Given the description of an element on the screen output the (x, y) to click on. 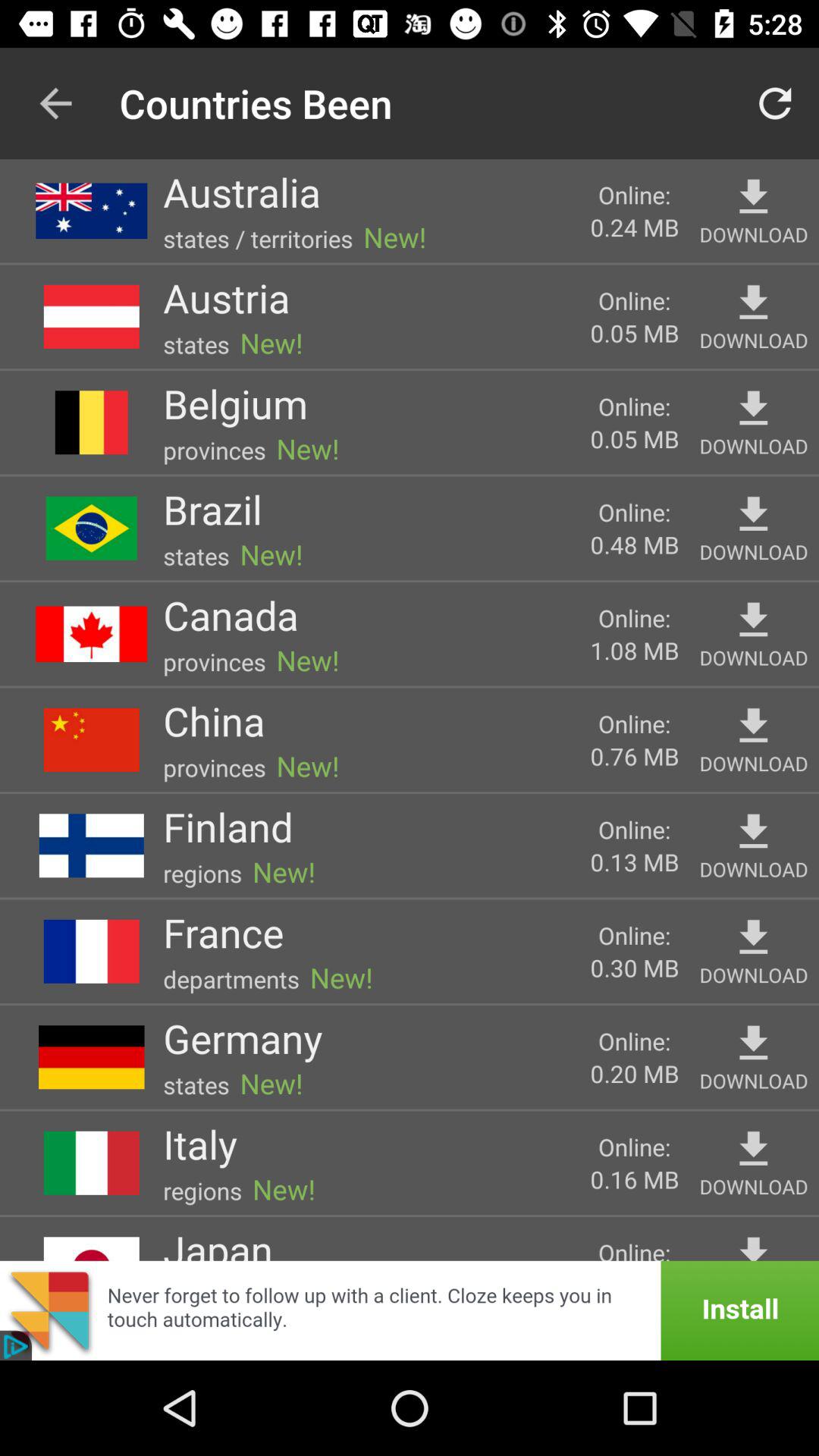
download (753, 514)
